Given the description of an element on the screen output the (x, y) to click on. 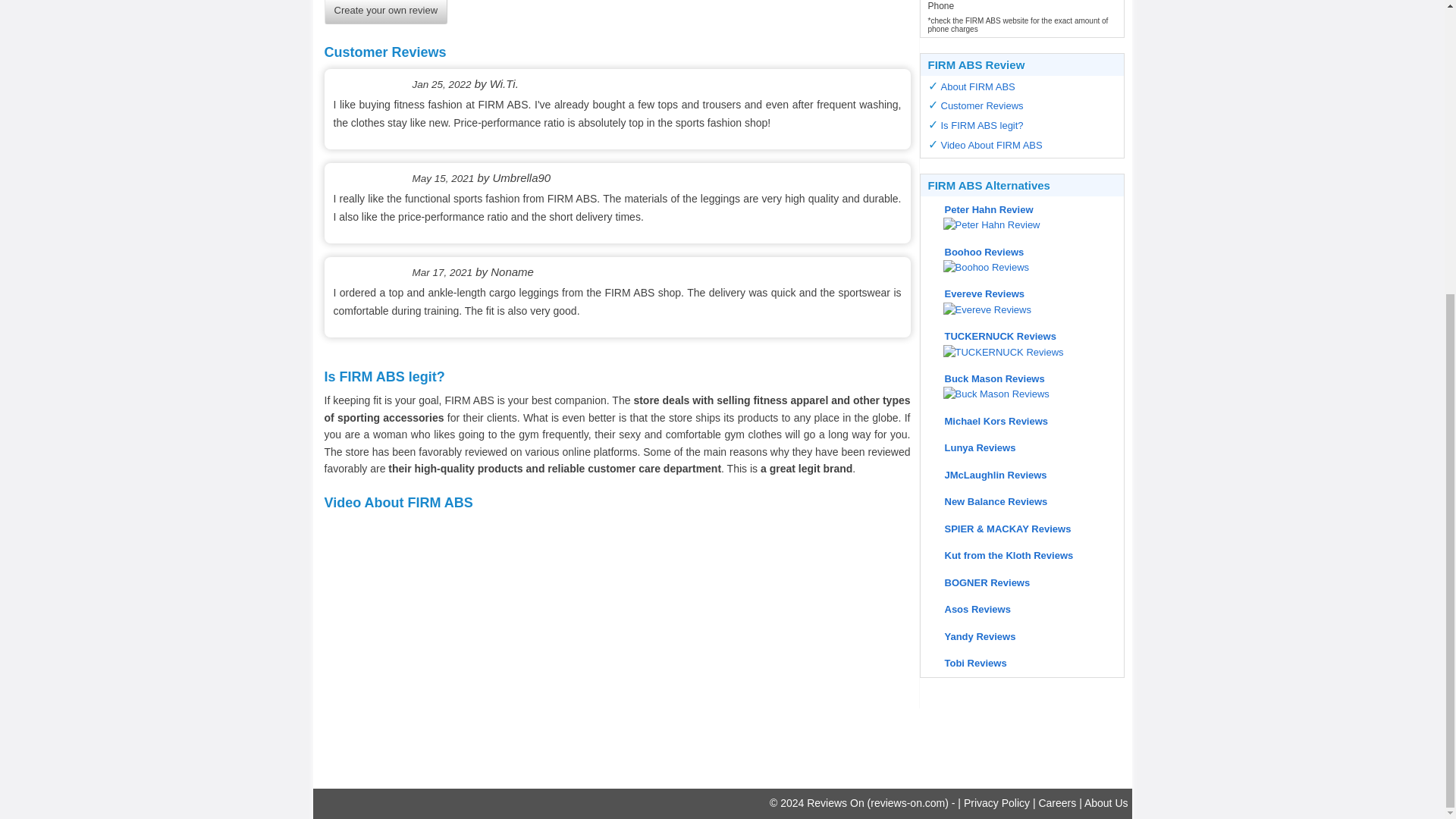
Privacy Policy (996, 802)
Is FIRM ABS legit? (981, 125)
Yandy Reviews (968, 636)
TUCKERNUCK Reviews (988, 336)
Boohoo Reviews (974, 266)
About FIRM ABS (977, 86)
Boohoo Reviews (972, 251)
Customer Reviews (981, 105)
Buck Mason Reviews (982, 378)
About Us (1106, 802)
